Given the description of an element on the screen output the (x, y) to click on. 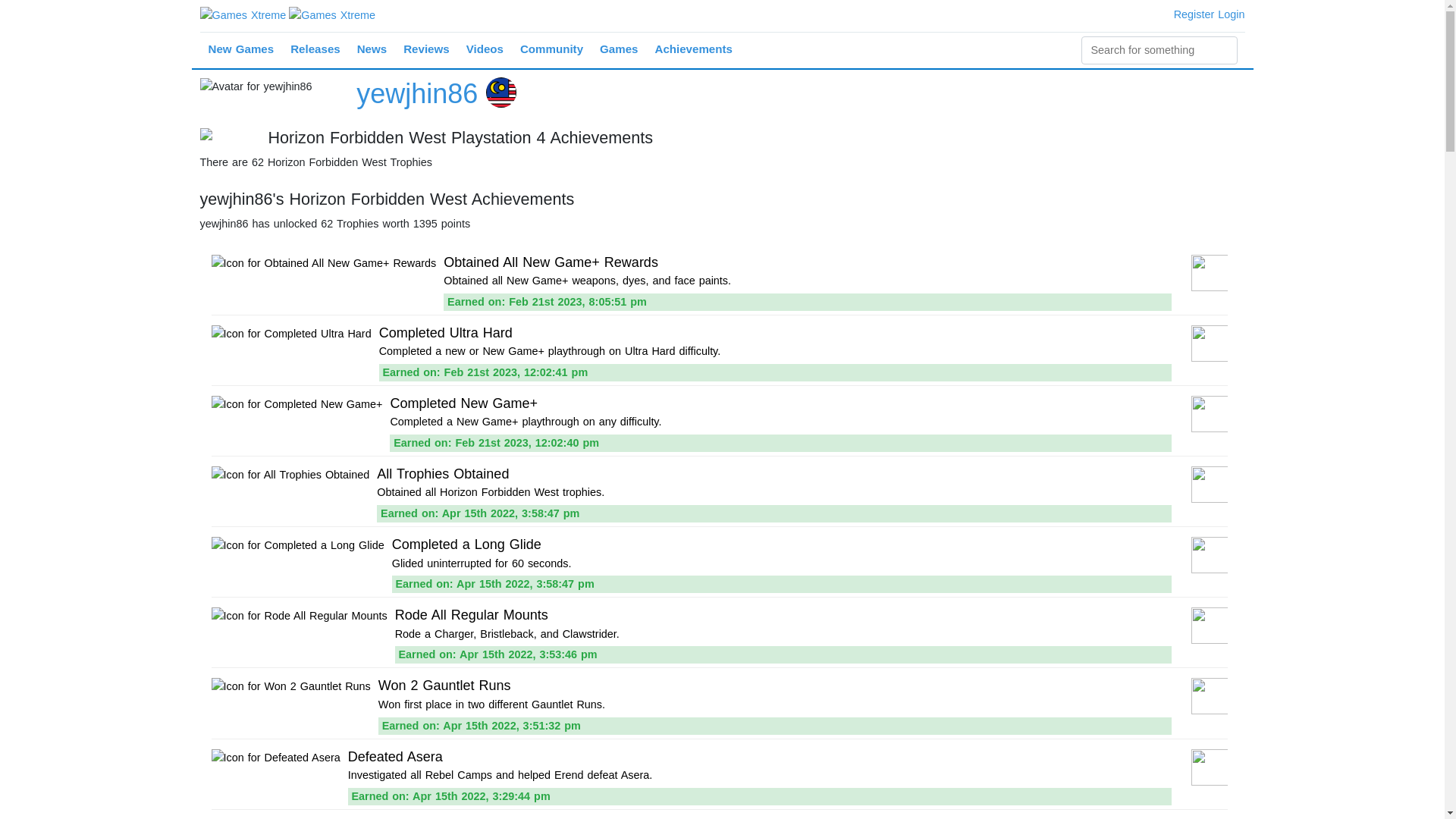
Community (551, 49)
Videos (485, 49)
Releases (315, 49)
News (371, 49)
Achievements (692, 49)
Register (1193, 14)
Login (1230, 14)
